Given the description of an element on the screen output the (x, y) to click on. 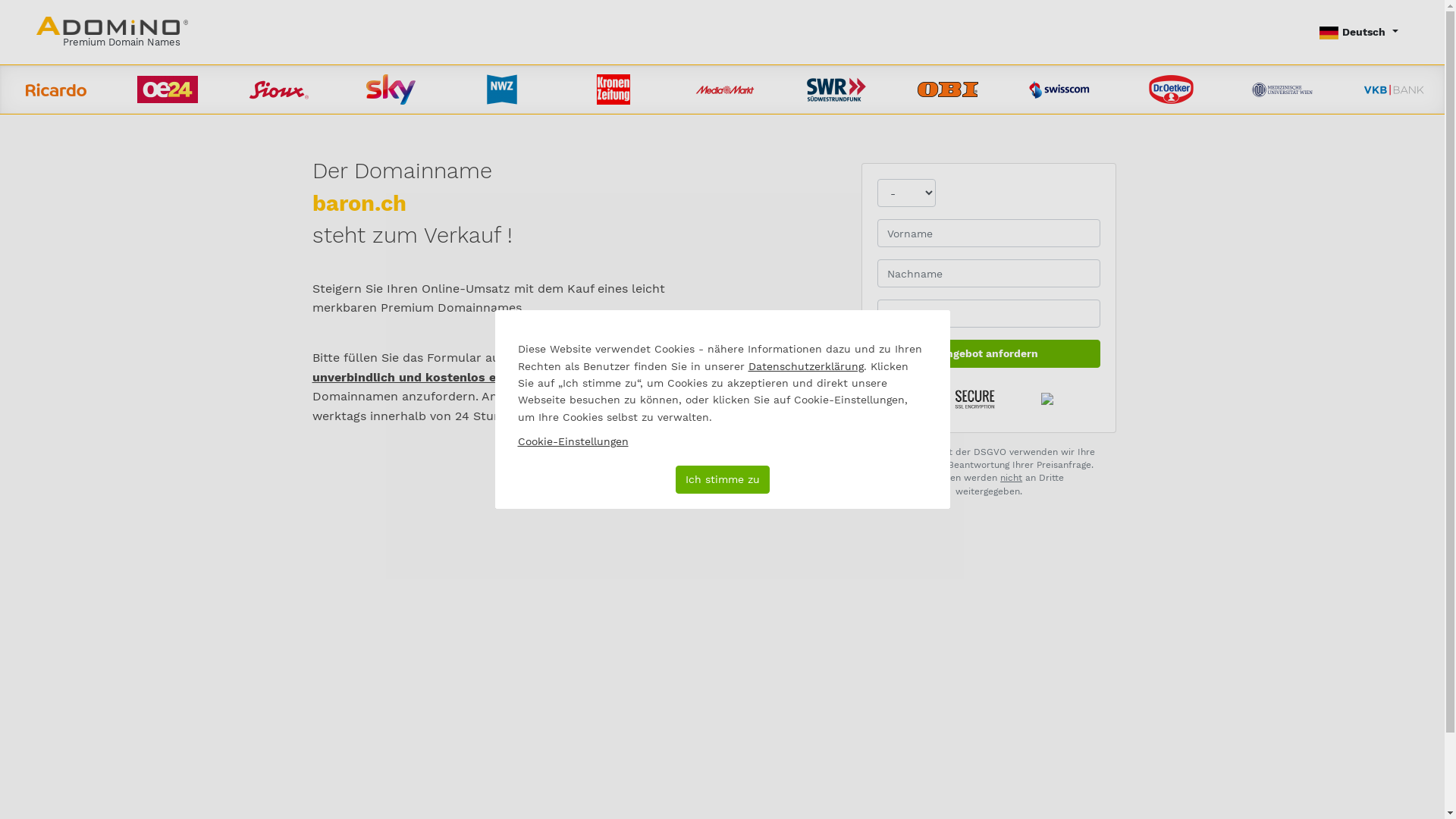
Angebot anfordern Element type: text (989, 353)
Premium Domain Names Element type: text (112, 31)
Cookie-Einstellungen Element type: text (572, 441)
Deutsch Element type: text (1358, 32)
Ich stimme zu Element type: text (721, 479)
